Given the description of an element on the screen output the (x, y) to click on. 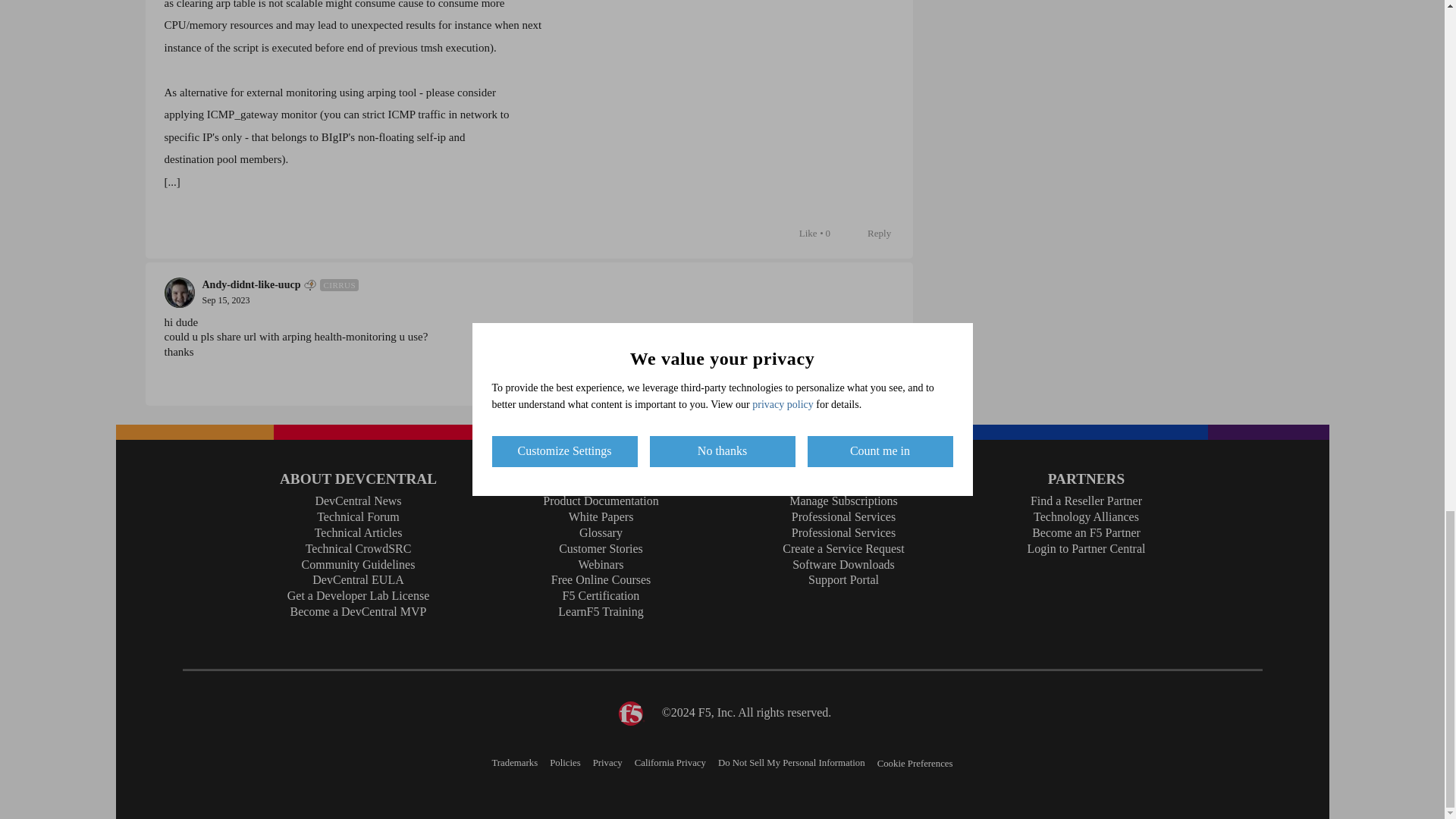
September 15, 2023 at 5:46 PM (225, 299)
